Given the description of an element on the screen output the (x, y) to click on. 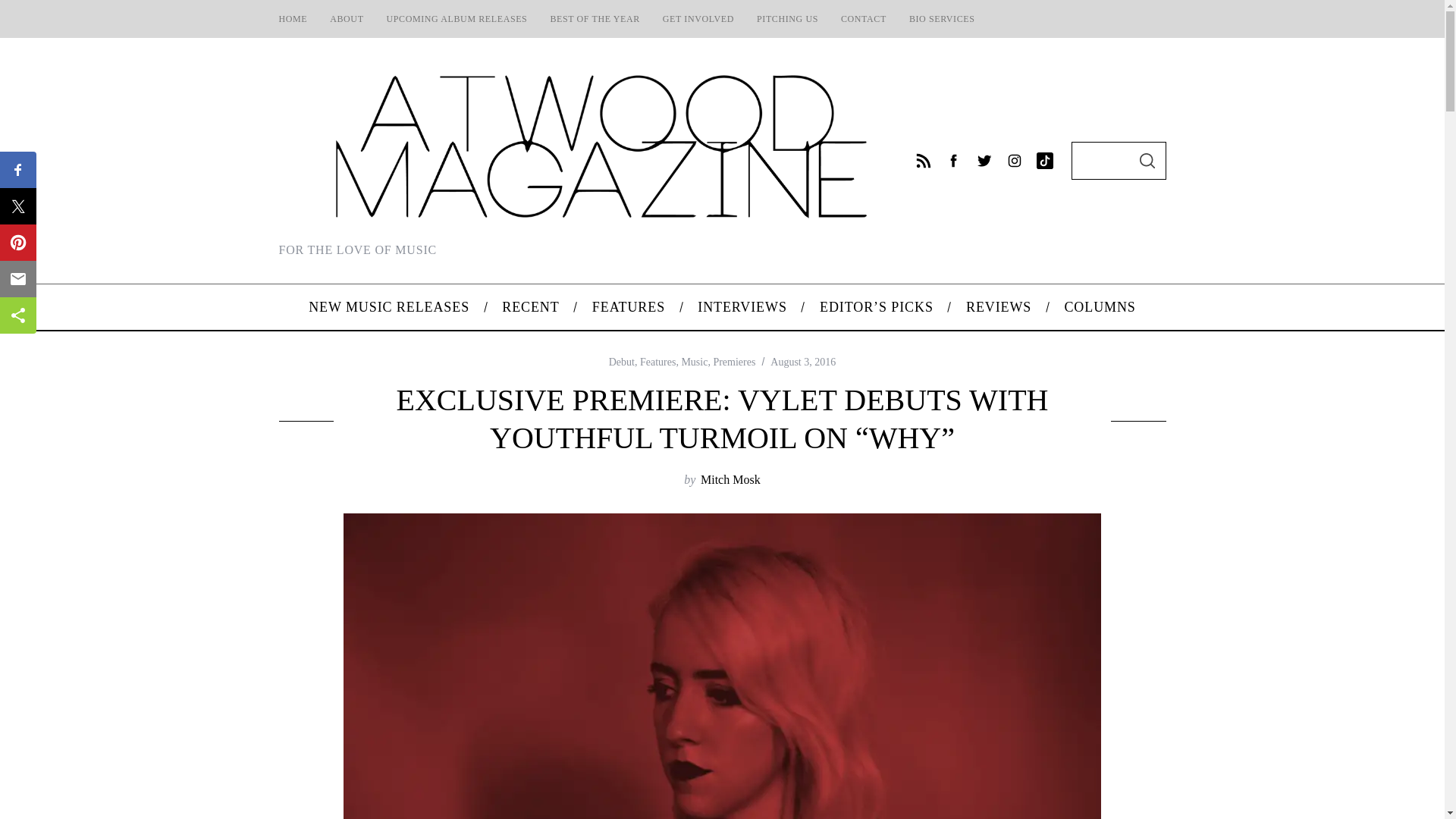
RECENT (531, 307)
FEATURES (628, 307)
GET INVOLVED (697, 18)
SEARCH (1147, 160)
Premieres (734, 361)
Celebrating the best music of 2023! (594, 18)
Home (292, 18)
UPCOMING ALBUM RELEASES (456, 18)
Features (657, 361)
REVIEWS (997, 307)
COLUMNS (1100, 307)
Mitch Mosk (730, 479)
NEW MUSIC RELEASES (389, 307)
Music (694, 361)
HOME (292, 18)
